Given the description of an element on the screen output the (x, y) to click on. 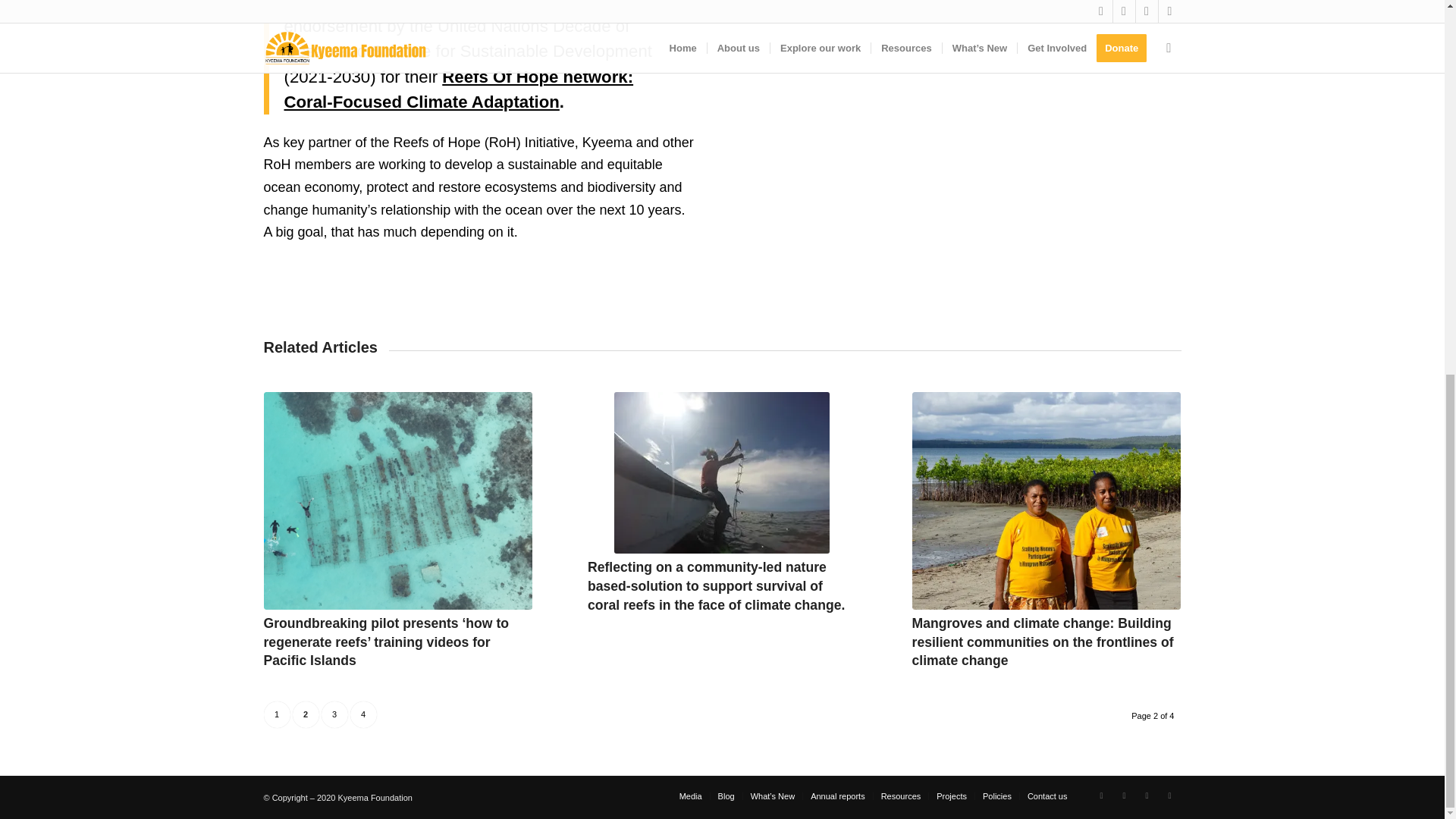
Facebook (1101, 794)
3 (334, 714)
1 (276, 714)
LinkedIn (1124, 794)
Reefs Of Hope network: Coral-Focused Climate Adaptation (458, 89)
Youtube (1169, 794)
Media (690, 795)
YouTube video player (961, 156)
Instagram (1146, 794)
